Given the description of an element on the screen output the (x, y) to click on. 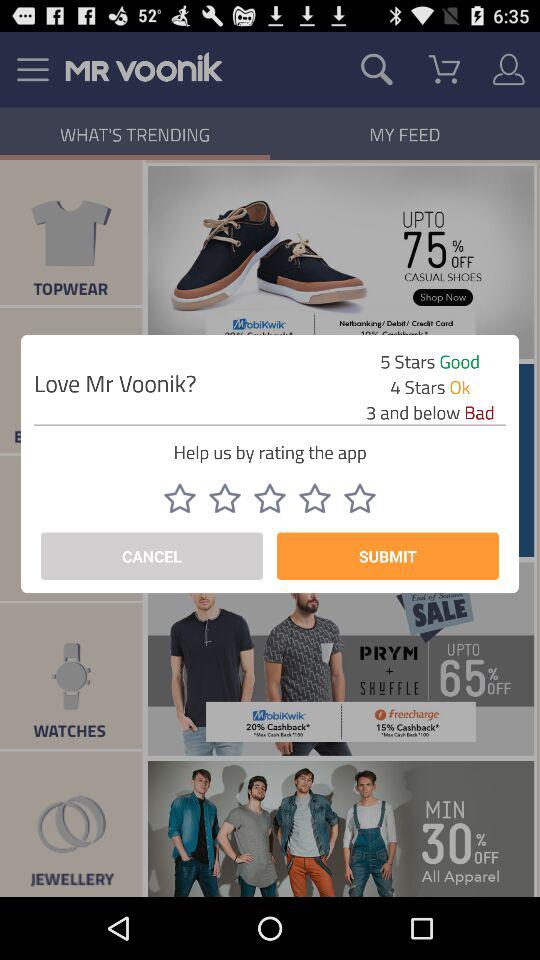
four star switch (315, 498)
